Given the description of an element on the screen output the (x, y) to click on. 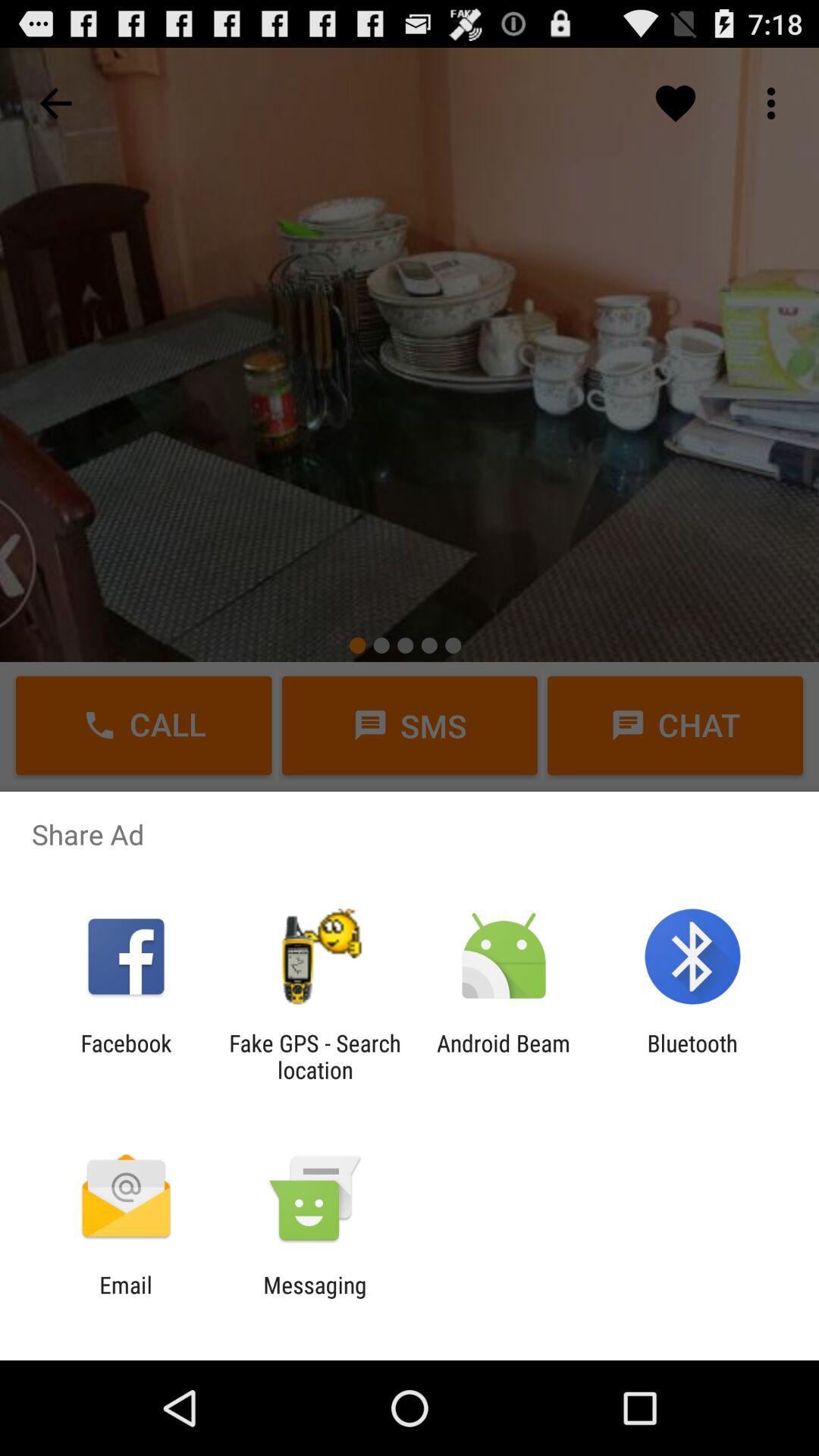
choose the icon next to the bluetooth item (503, 1056)
